Given the description of an element on the screen output the (x, y) to click on. 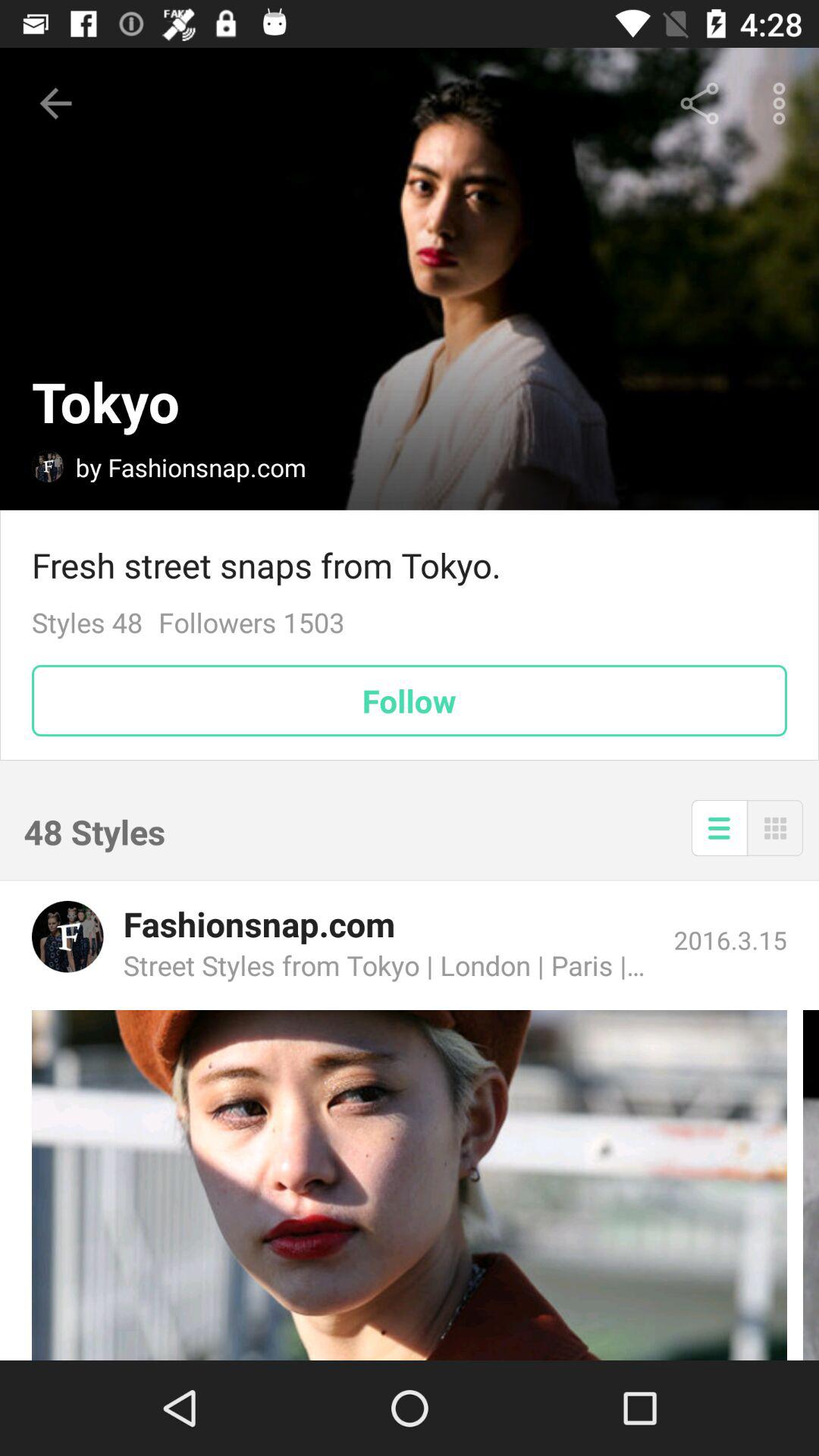
go to fashionsnap page (67, 936)
